Given the description of an element on the screen output the (x, y) to click on. 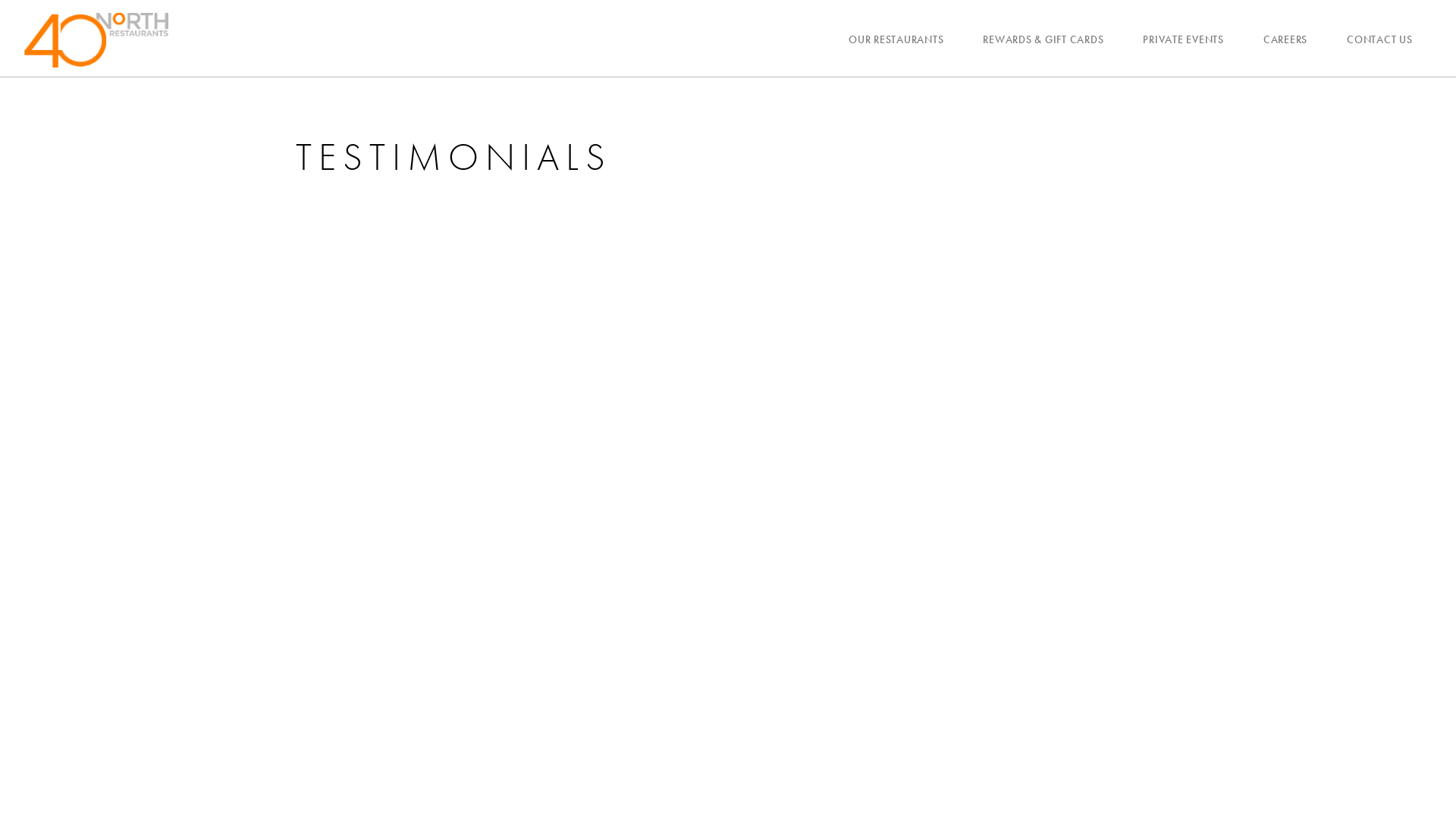
CAREERS Element type: text (1285, 39)
OUR RESTAURANTS Element type: text (895, 39)
REWARDS & GIFT CARDS Element type: text (1043, 39)
PRIVATE EVENTS Element type: text (1183, 39)
CONTACT US Element type: text (1379, 39)
